Given the description of an element on the screen output the (x, y) to click on. 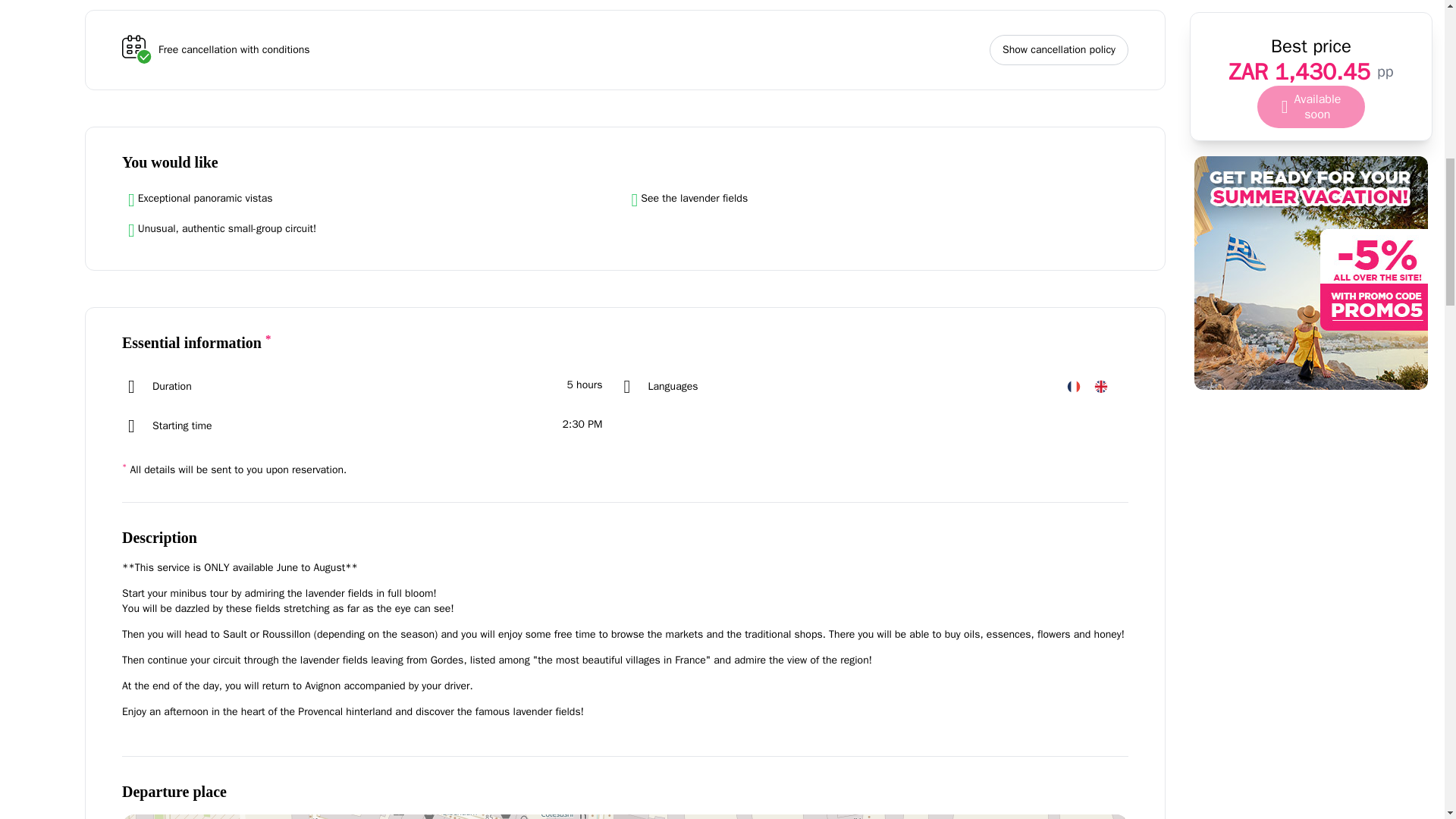
French (1073, 386)
Show cancellation policy (1059, 50)
English (1100, 386)
